Given the description of an element on the screen output the (x, y) to click on. 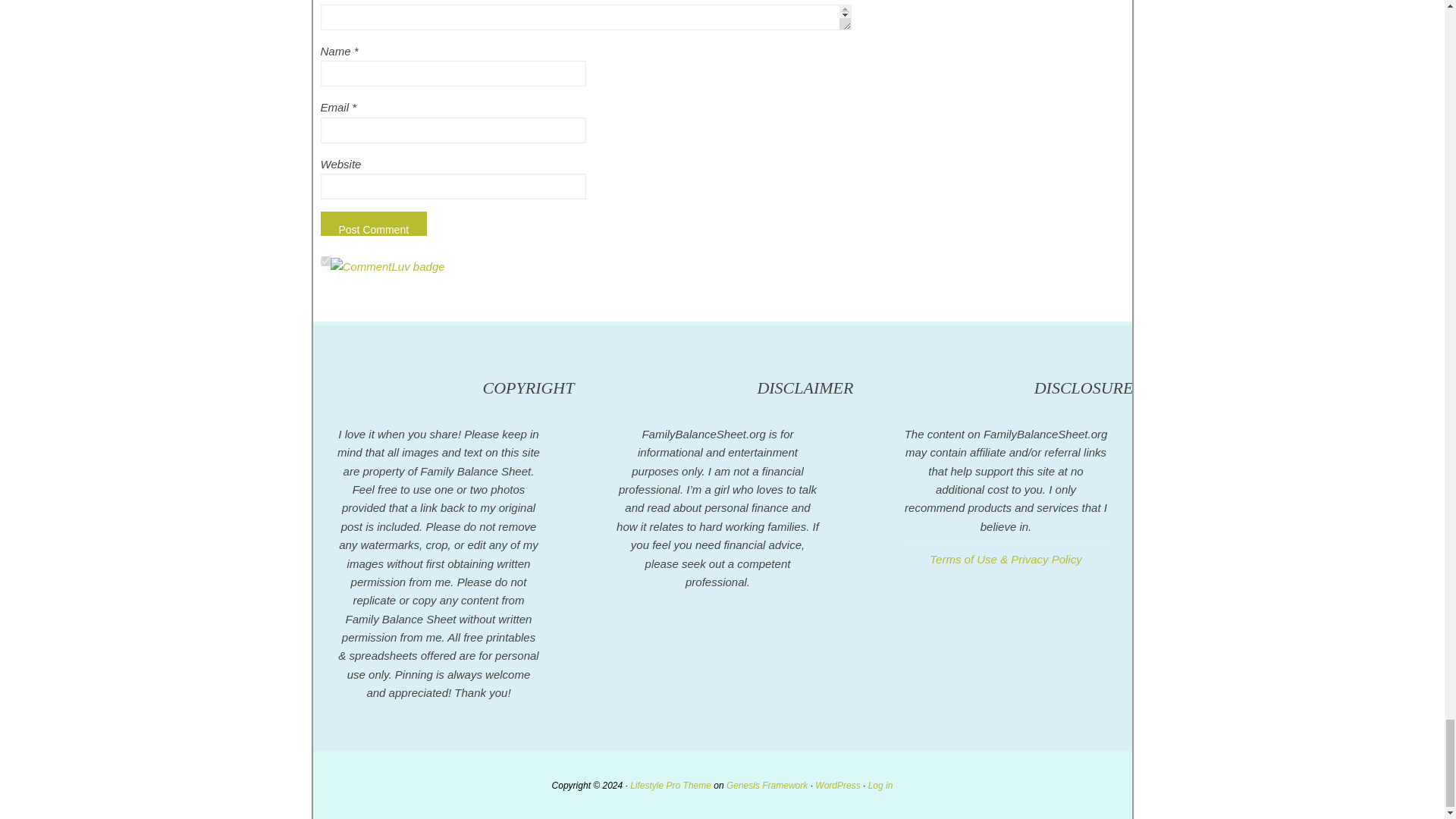
CommentLuv is enabled (387, 266)
Post Comment (373, 223)
